Given the description of an element on the screen output the (x, y) to click on. 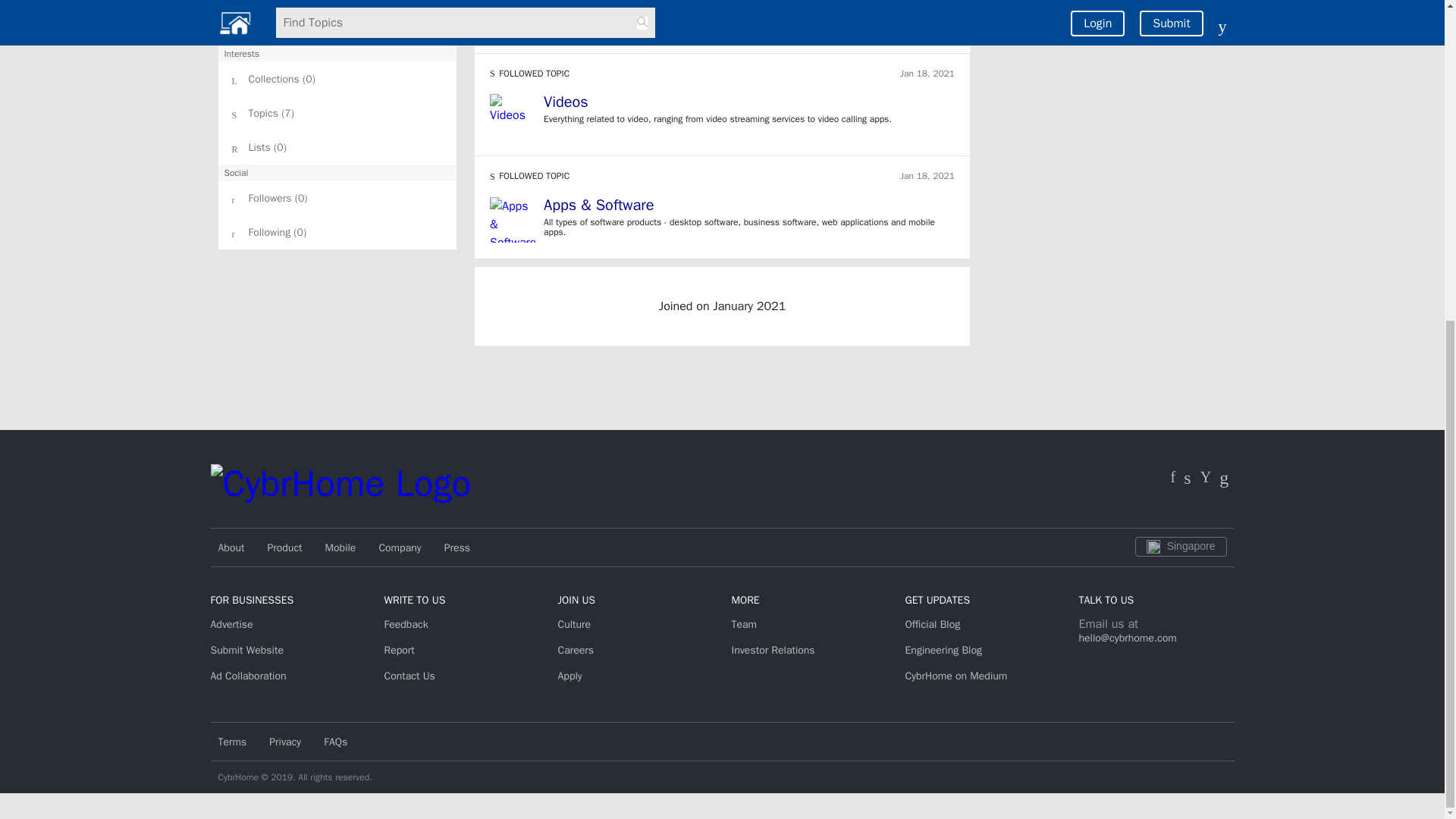
Sports (564, 4)
Videos (565, 101)
Sports (749, 6)
Videos (749, 104)
